Given the description of an element on the screen output the (x, y) to click on. 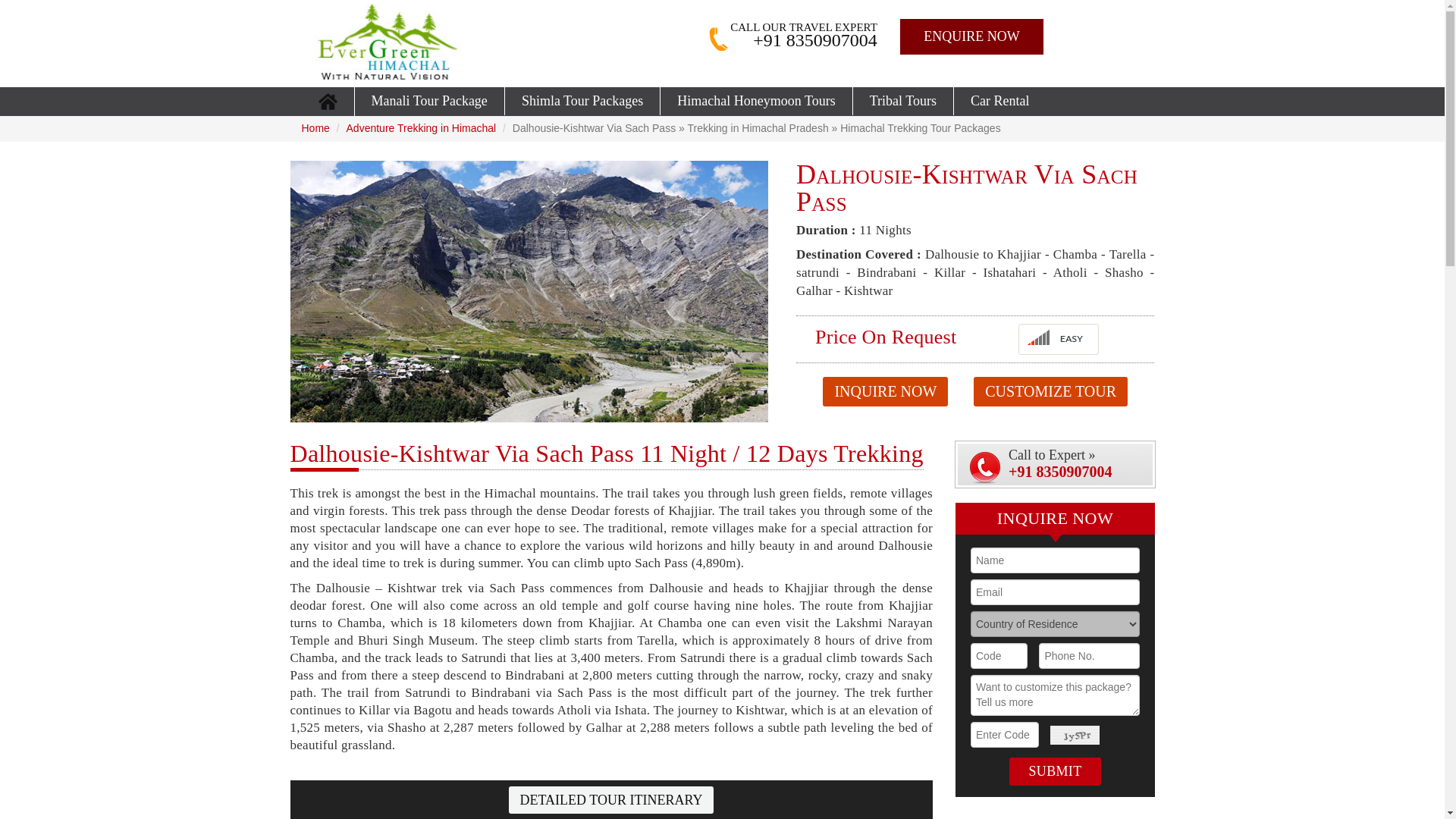
Manali Tour Package (429, 100)
Home (315, 128)
Himachal Honeymoon Tours (756, 100)
Tribal Tours (903, 100)
Adventure Trekking in Himachal (421, 128)
ENQUIRE NOW (971, 36)
DETAILED TOUR ITINERARY (611, 800)
CUSTOMIZE TOUR (1050, 391)
INQUIRE NOW (884, 391)
Shimla Tour Packages (582, 100)
